Given the description of an element on the screen output the (x, y) to click on. 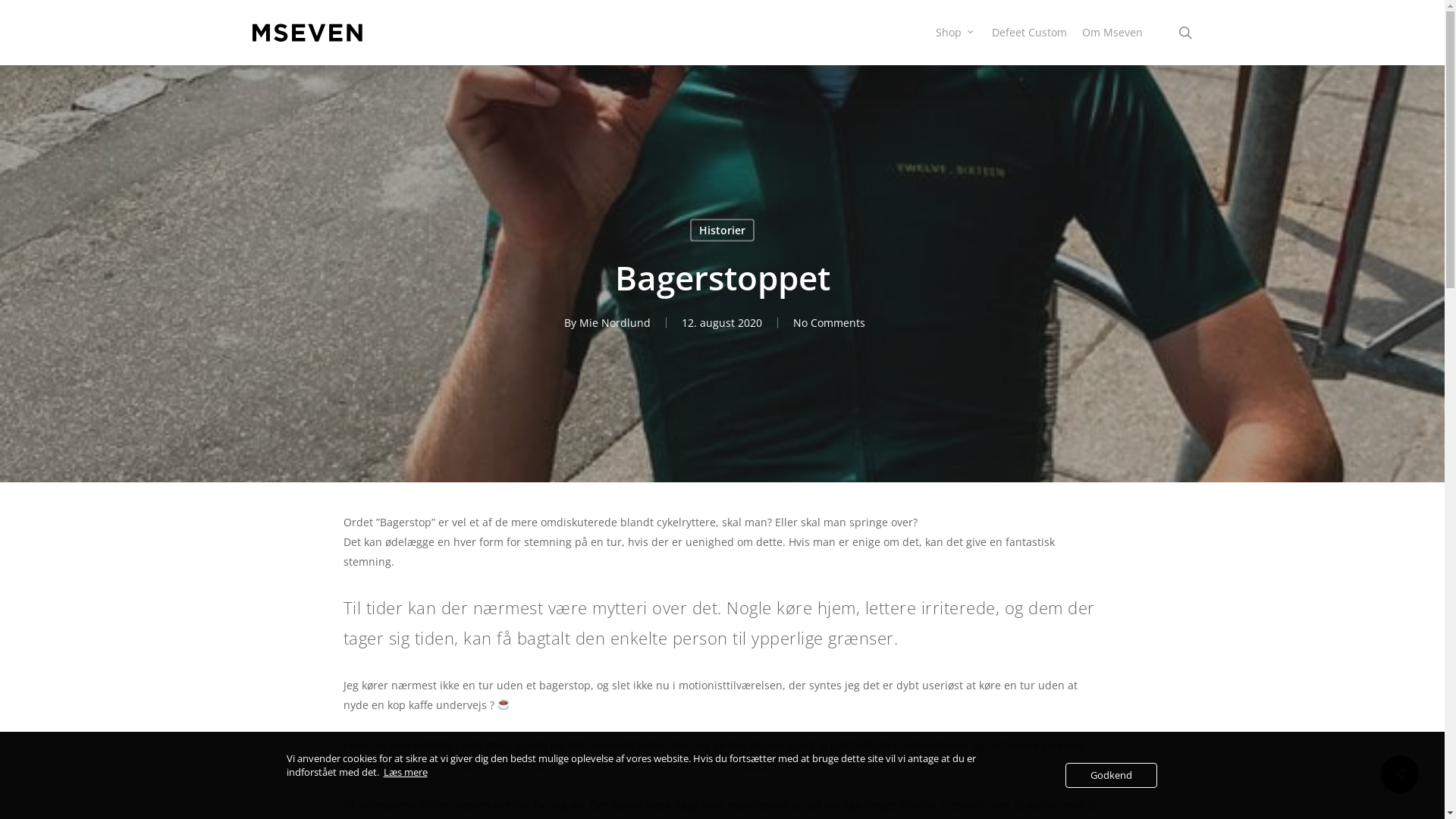
Godkend Element type: text (1110, 774)
search Element type: text (1185, 32)
Shop Element type: text (955, 32)
0 Element type: text (1210, 39)
No Comments Element type: text (829, 322)
Om Mseven Element type: text (1112, 32)
Defeet Custom Element type: text (1028, 32)
Mie Nordlund Element type: text (614, 322)
Historier Element type: text (722, 229)
